Given the description of an element on the screen output the (x, y) to click on. 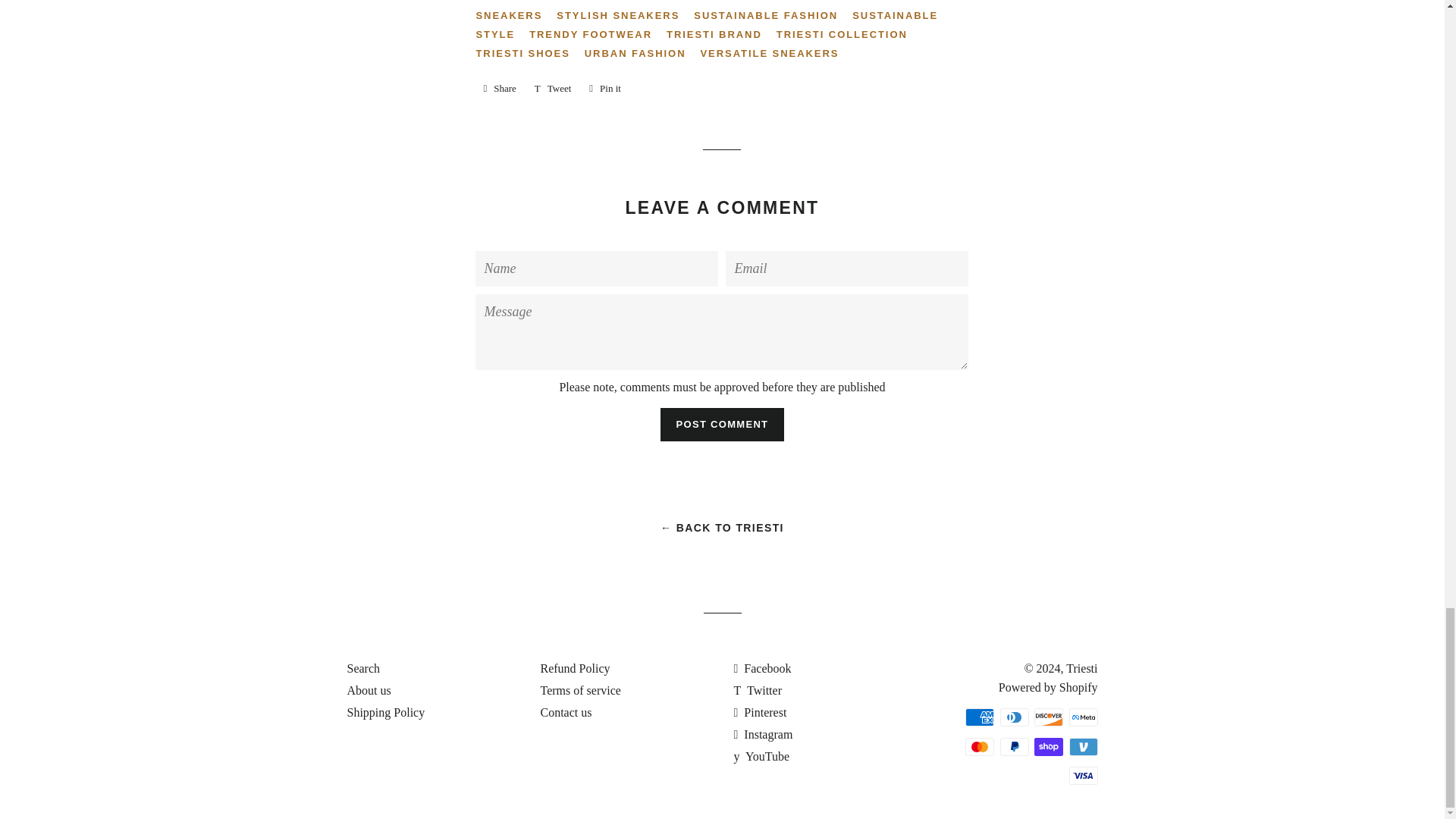
Tweet on Twitter (553, 87)
Discover (1047, 717)
Post comment (722, 424)
Triesti on Instagram (763, 734)
American Express (979, 717)
Visa (1082, 775)
SNEAKER TRENDS (759, 2)
SNEAKER INNOVATION (619, 2)
PayPal (1012, 746)
Triesti on YouTube (761, 756)
